Given the description of an element on the screen output the (x, y) to click on. 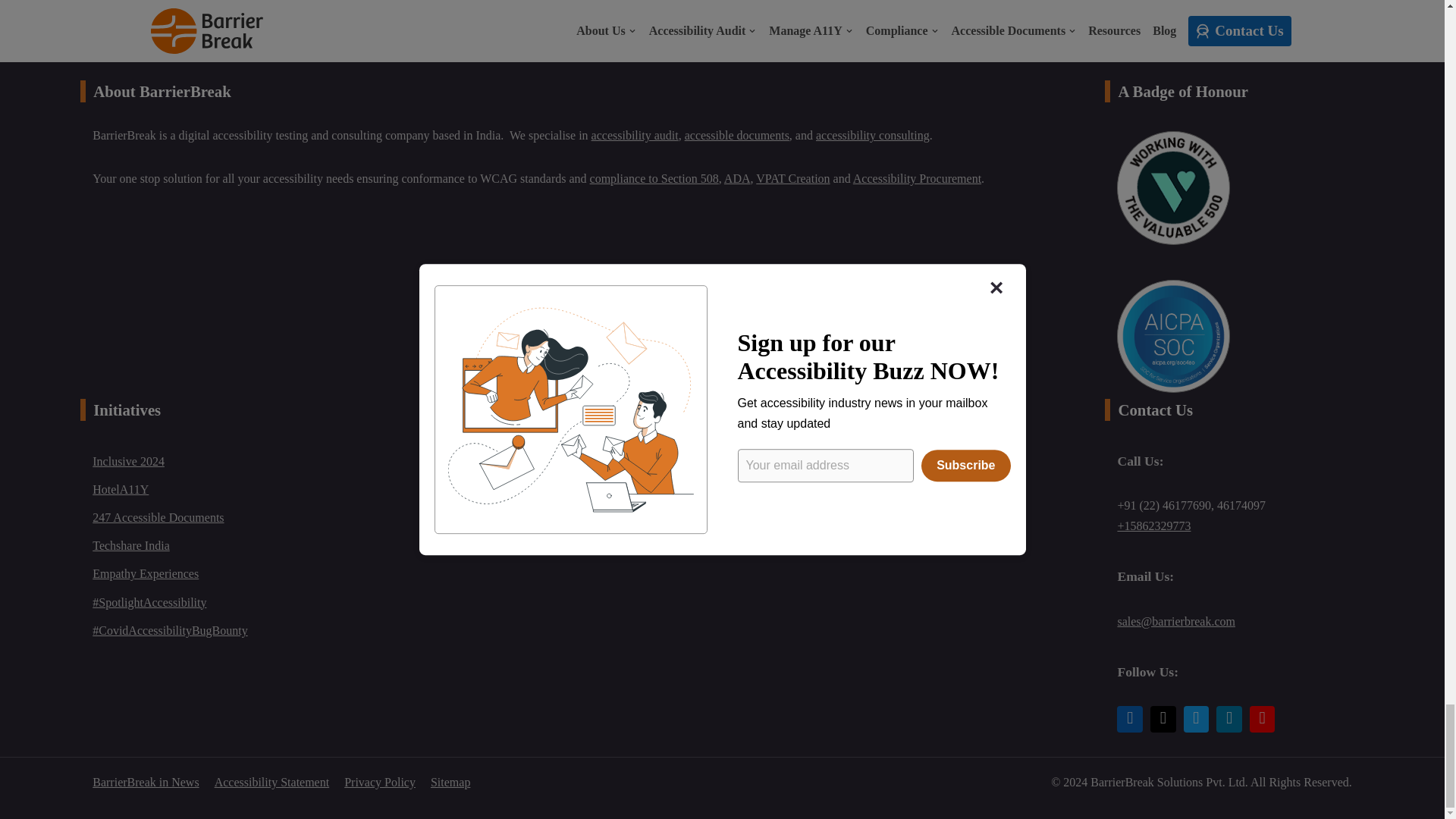
BarrierBreak on Facebook (1196, 718)
BarrierBreak on Youtube (1262, 718)
BarrierBreak on Slideshare (1228, 718)
BarrierBreak on Linkedin (1129, 718)
BarrierBreak on X (1163, 718)
